Given the description of an element on the screen output the (x, y) to click on. 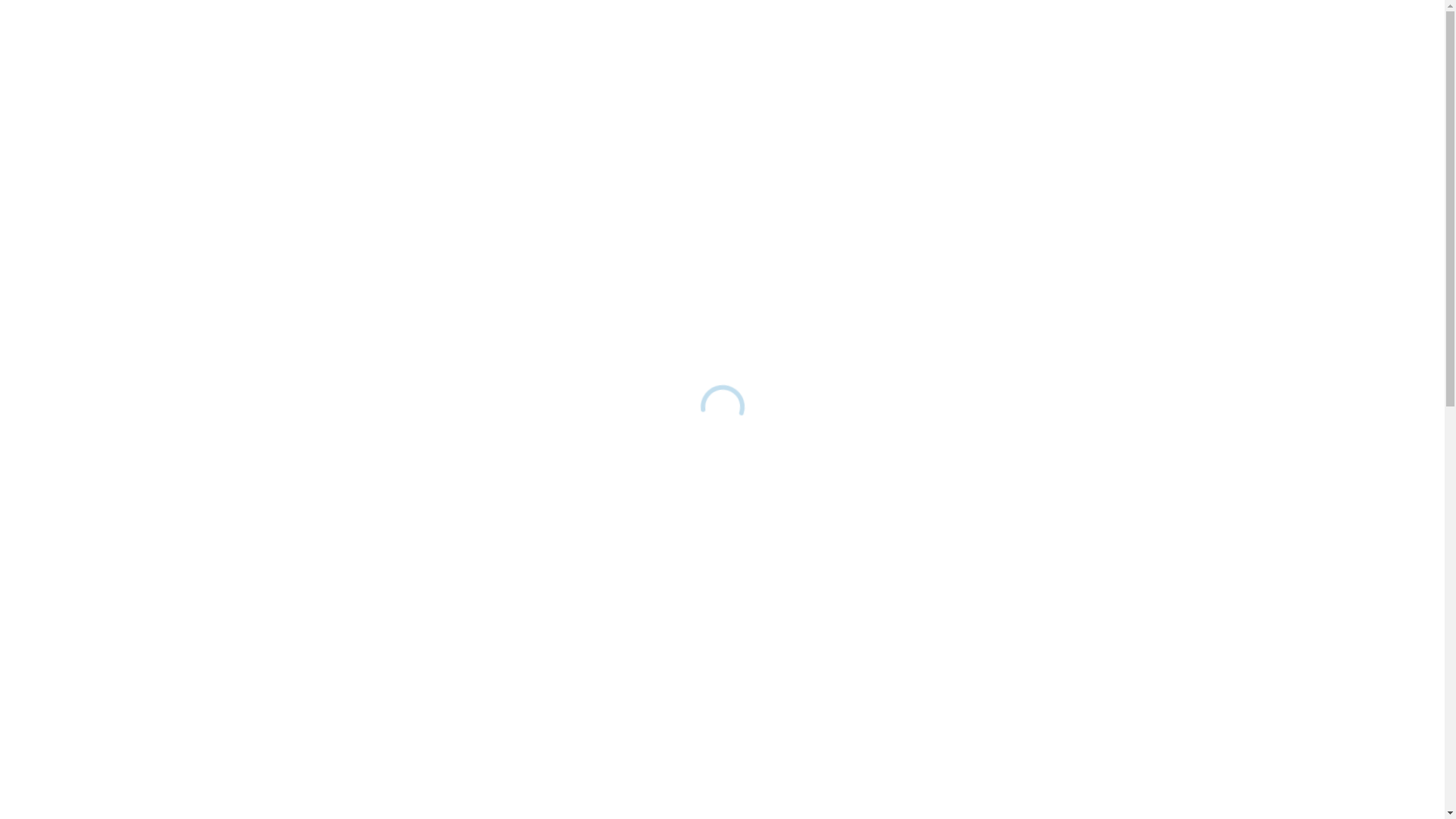
INSTAGRAM Element type: text (1357, 33)
SIMULATORS Element type: text (1086, 33)
LINKEDIN Element type: text (1329, 33)
+617 5353 5242 Element type: text (500, 541)
How to Apply Element type: text (556, 752)
Course Brochure Element type: text (556, 692)
COURSES Element type: text (987, 33)
ABOUT Element type: text (904, 33)
search Element type: text (1415, 34)
CONTACT Element type: text (1234, 33)
FACEBOOK Element type: text (1305, 33)
NEWS Element type: text (1169, 33)
